Given the description of an element on the screen output the (x, y) to click on. 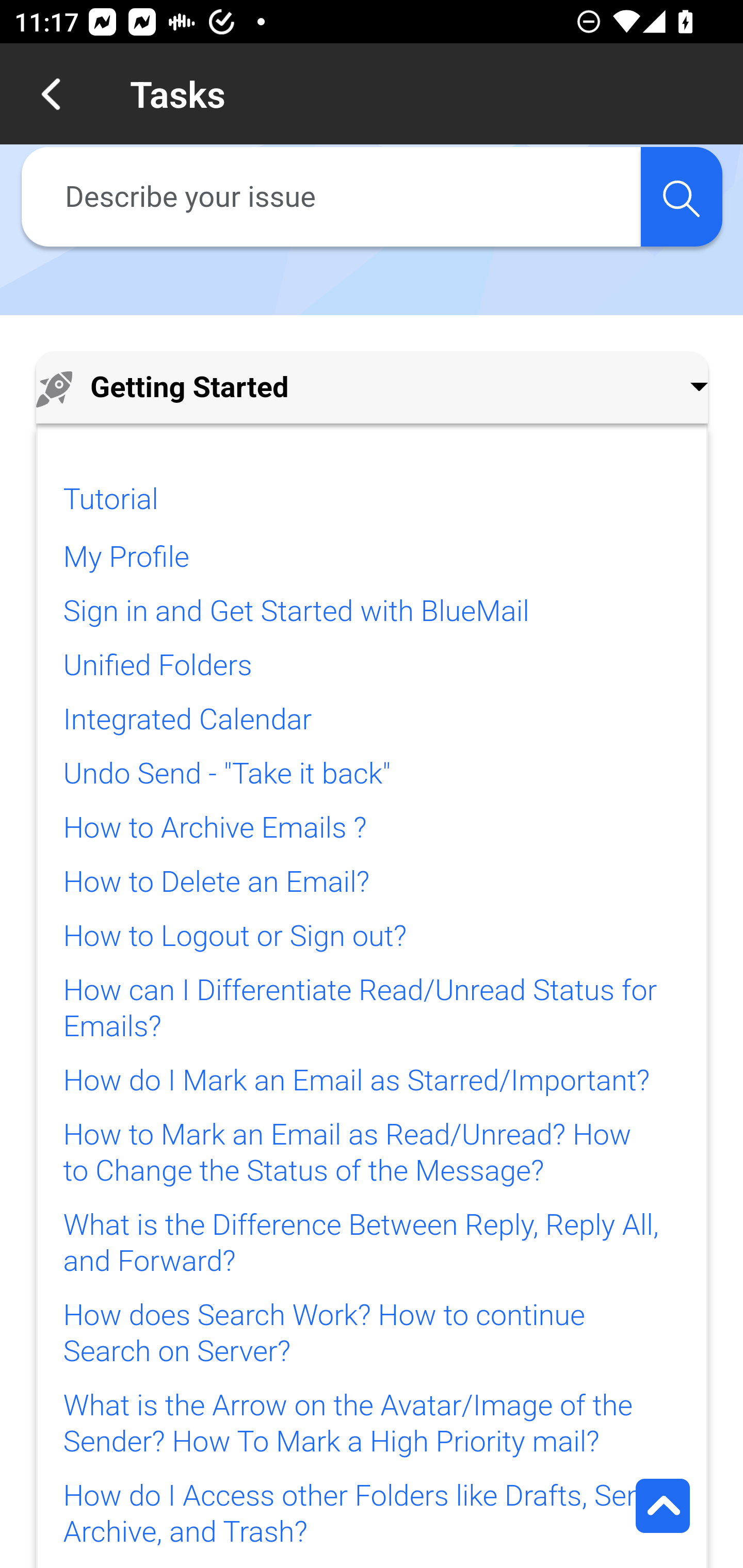
Navigate up (50, 93)
search (680, 196)
Tutorial (110, 499)
My Profile (126, 557)
Sign in and Get Started with BlueMail (296, 612)
Unified Folders (156, 665)
Integrated Calendar (186, 720)
Undo Send - "Take it back" (226, 773)
How to Archive Emails ? (214, 828)
How to Delete an Email? (215, 881)
How to Logout or Sign out? (234, 936)
How do I Mark an Email as Starred/Important? (356, 1081)
